Given the description of an element on the screen output the (x, y) to click on. 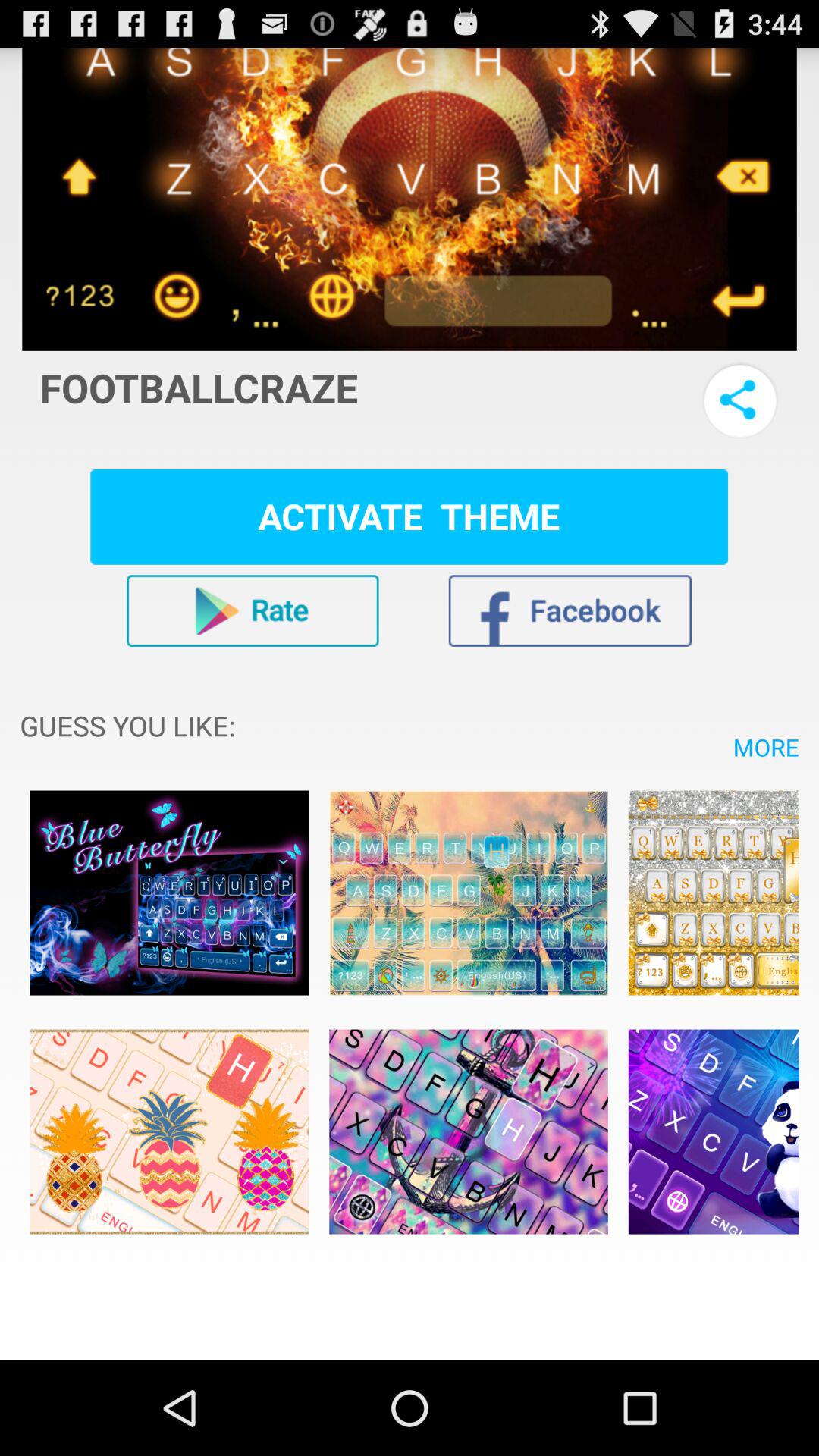
image choice (468, 892)
